Given the description of an element on the screen output the (x, y) to click on. 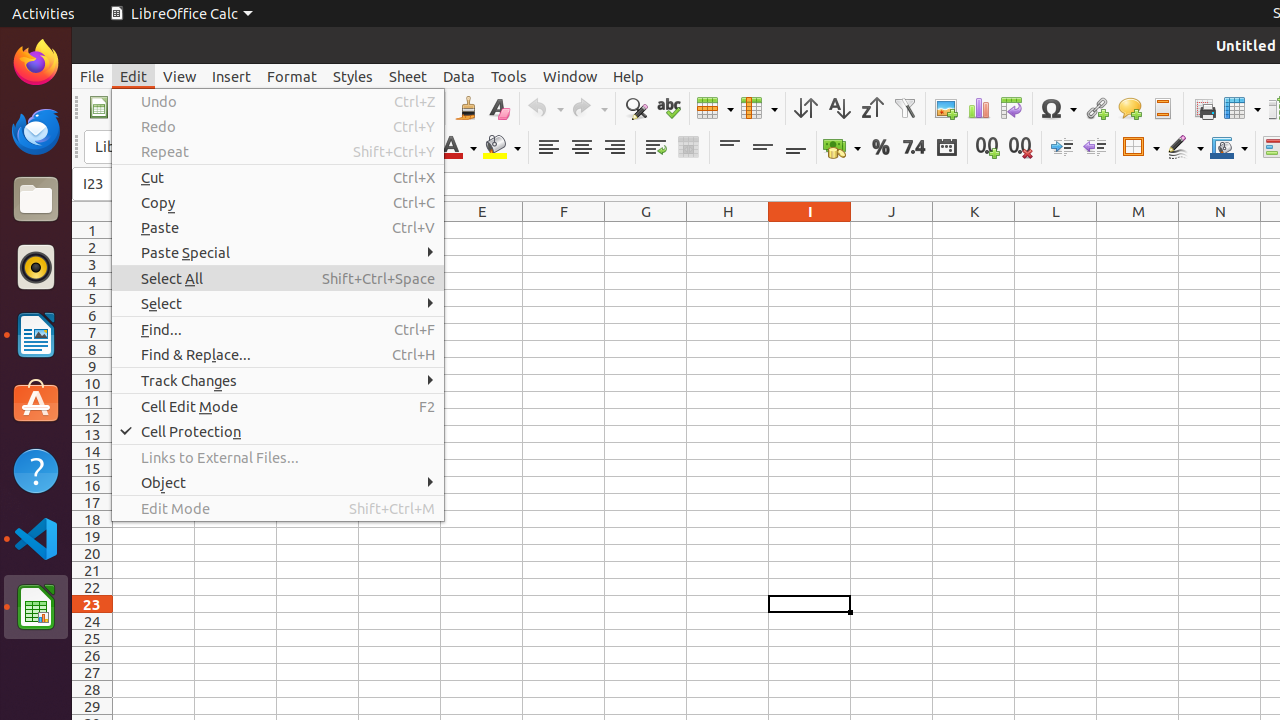
Sort Descending Element type: push-button (871, 108)
Add Decimal Place Element type: push-button (987, 147)
Undo Element type: push-button (545, 108)
Activities Element type: label (43, 13)
Hyperlink Element type: toggle-button (1096, 108)
